Given the description of an element on the screen output the (x, y) to click on. 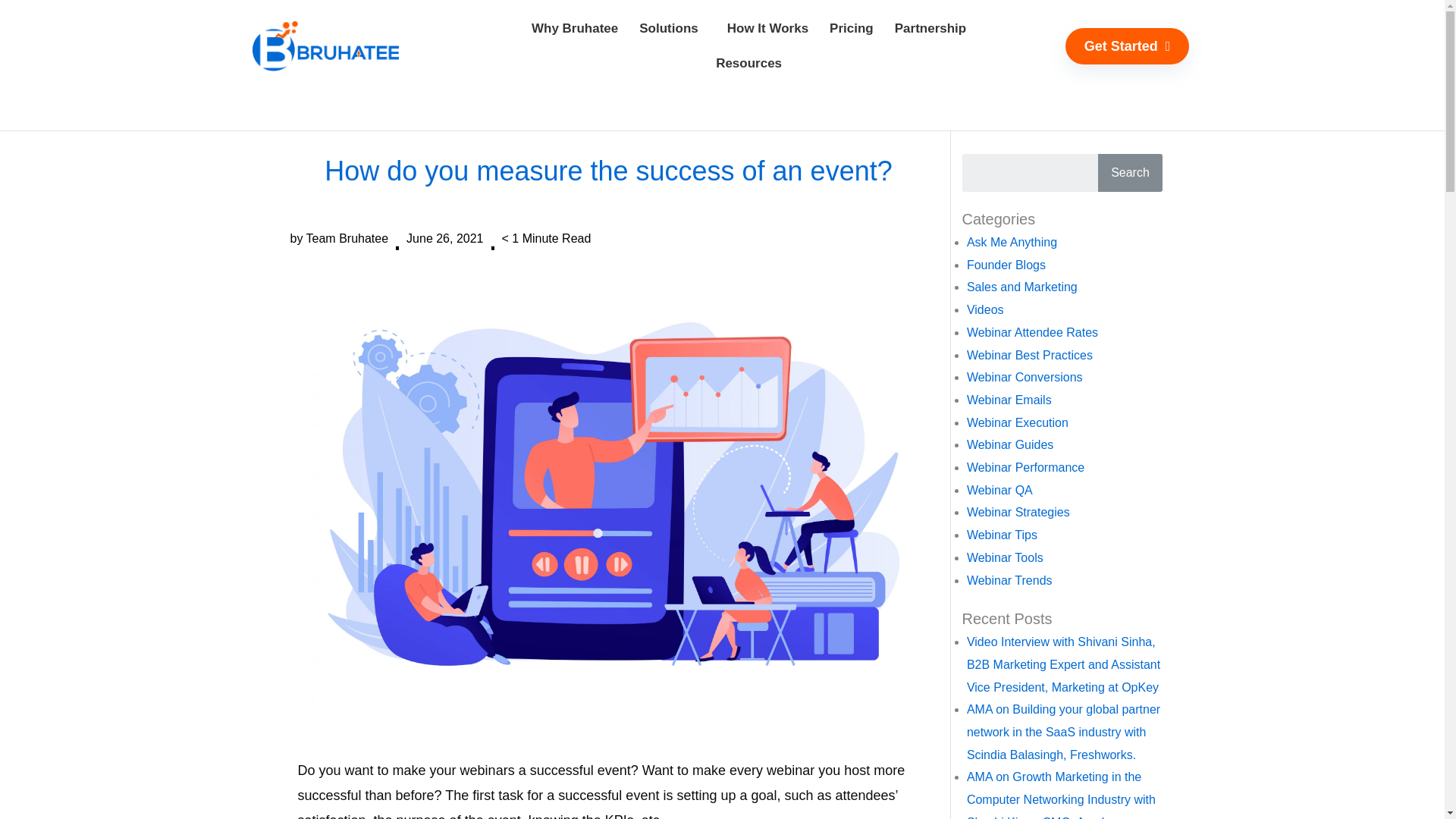
Resources (748, 63)
by Team Bruhatee (338, 238)
Pricing (850, 28)
logo (324, 46)
Search (1129, 172)
Solutions (672, 28)
Sales and Marketing (1021, 286)
Get Started (1127, 45)
Search (1028, 172)
Webinar Best Practices (1029, 354)
